Given the description of an element on the screen output the (x, y) to click on. 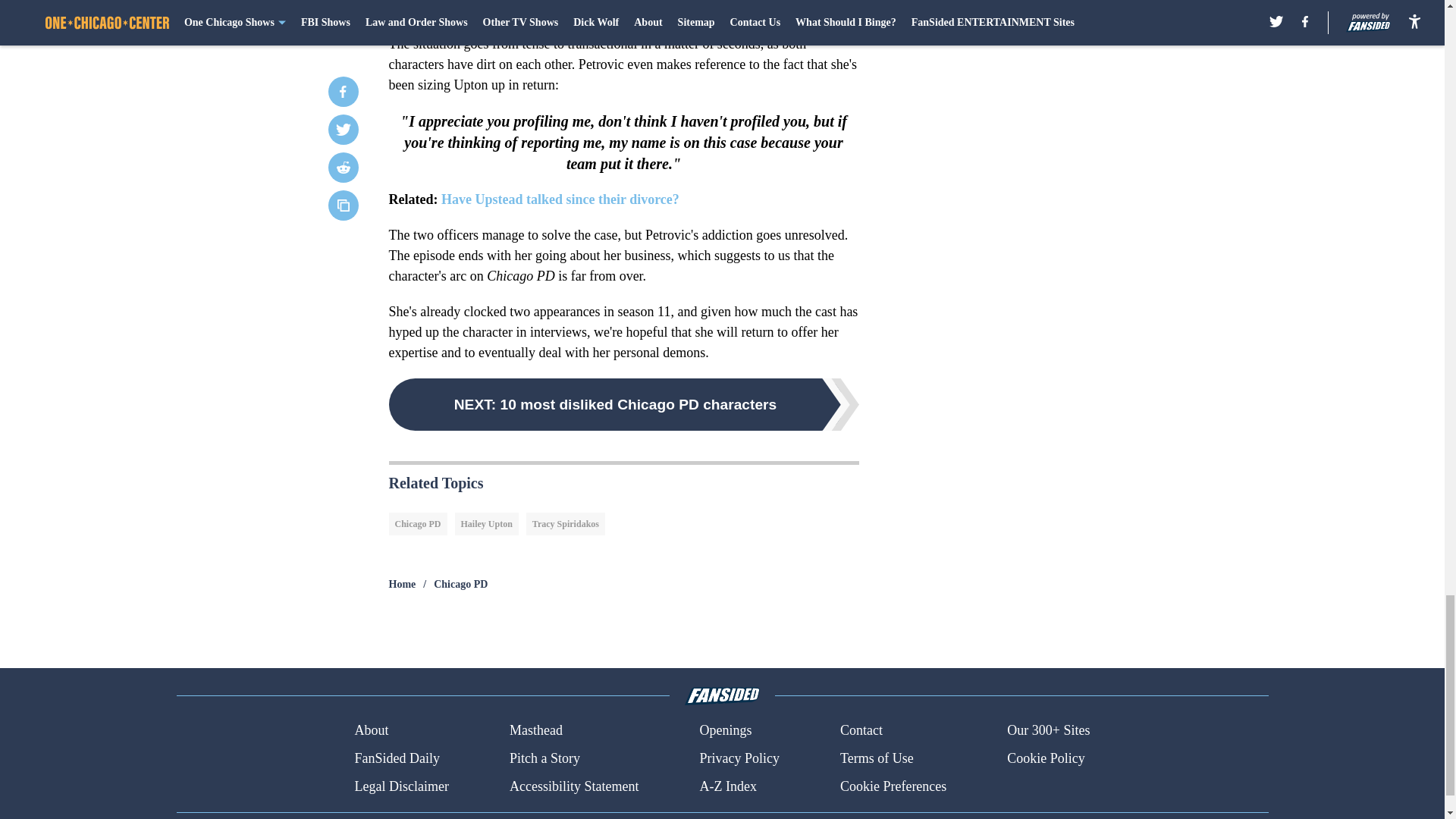
Chicago PD (460, 584)
About (370, 730)
Home (401, 584)
Openings (724, 730)
Have Upstead talked since their divorce? (560, 199)
Hailey Upton (486, 523)
NEXT: 10 most disliked Chicago PD characters (623, 404)
Tracy Spiridakos (565, 523)
Chicago PD (417, 523)
Masthead (535, 730)
